Given the description of an element on the screen output the (x, y) to click on. 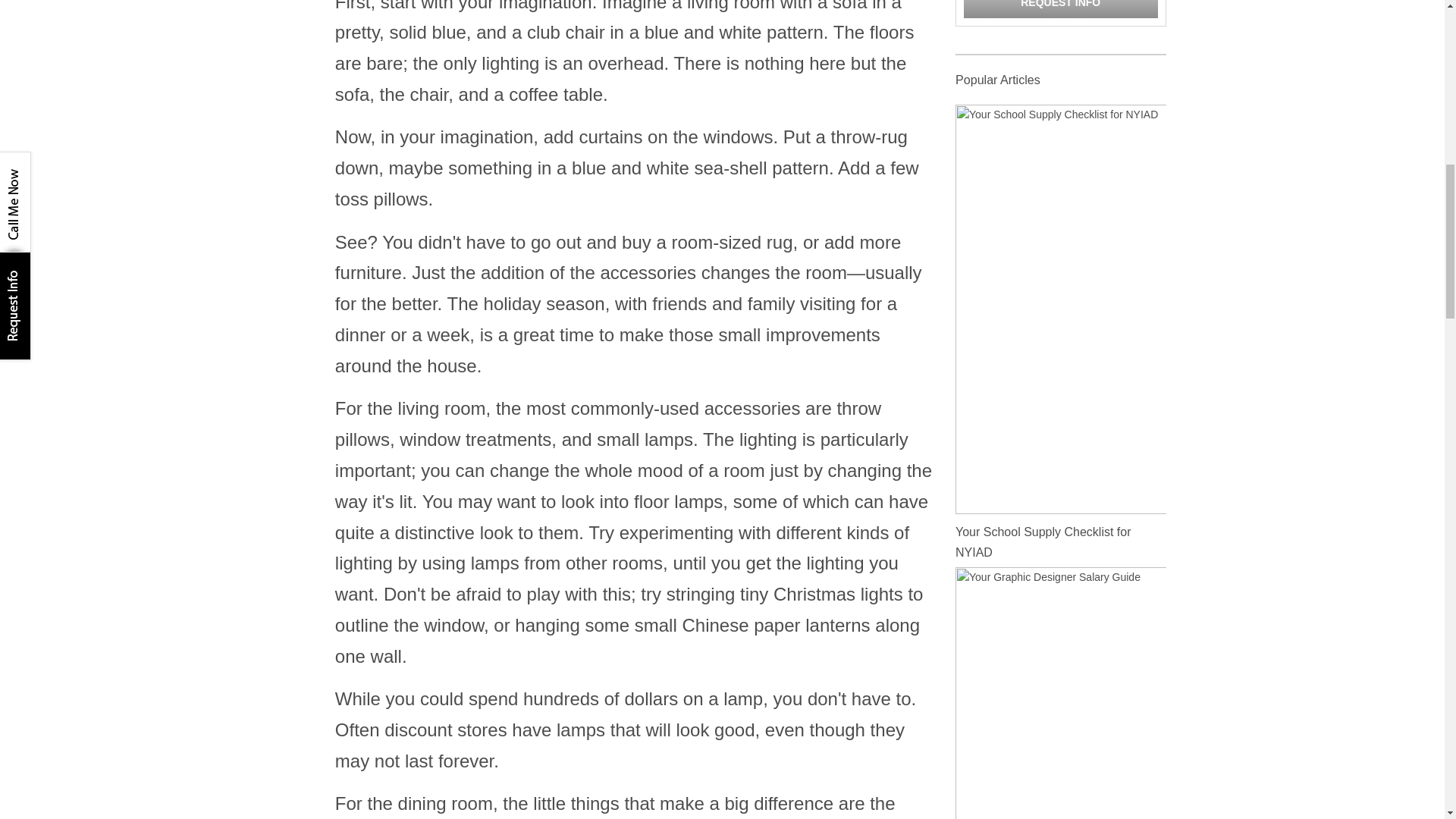
Your School Supply Checklist for NYIAD (1060, 307)
Your School Supply Checklist for NYIAD (1043, 541)
Your Graphic Designer Salary Guide  (1060, 770)
